Given the description of an element on the screen output the (x, y) to click on. 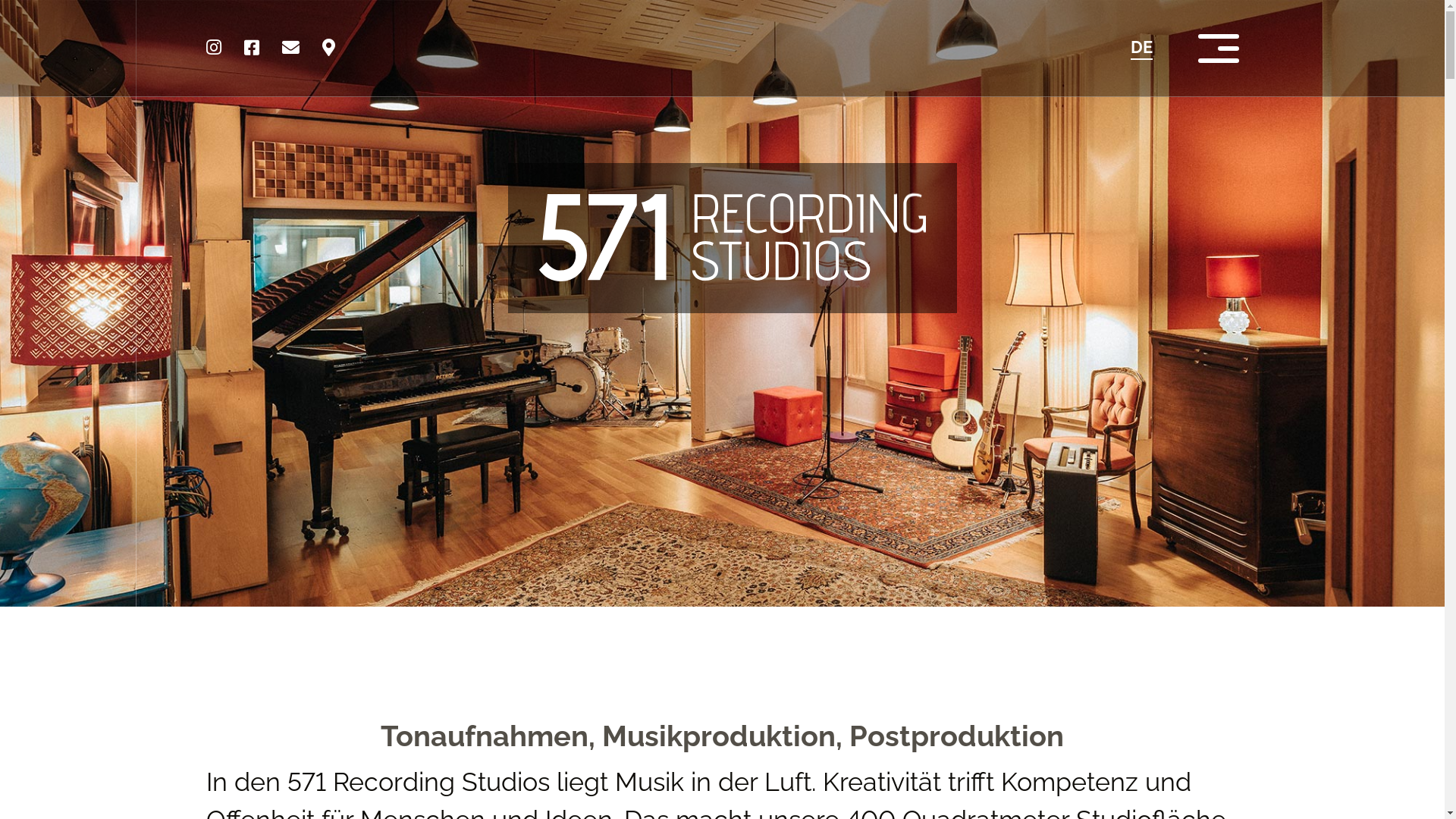
DE Element type: text (1140, 47)
Facebook Element type: hover (251, 47)
map Element type: hover (327, 47)
571 Recording Studios Element type: hover (635, 214)
mail Element type: hover (290, 47)
Instagram Element type: hover (213, 47)
